Given the description of an element on the screen output the (x, y) to click on. 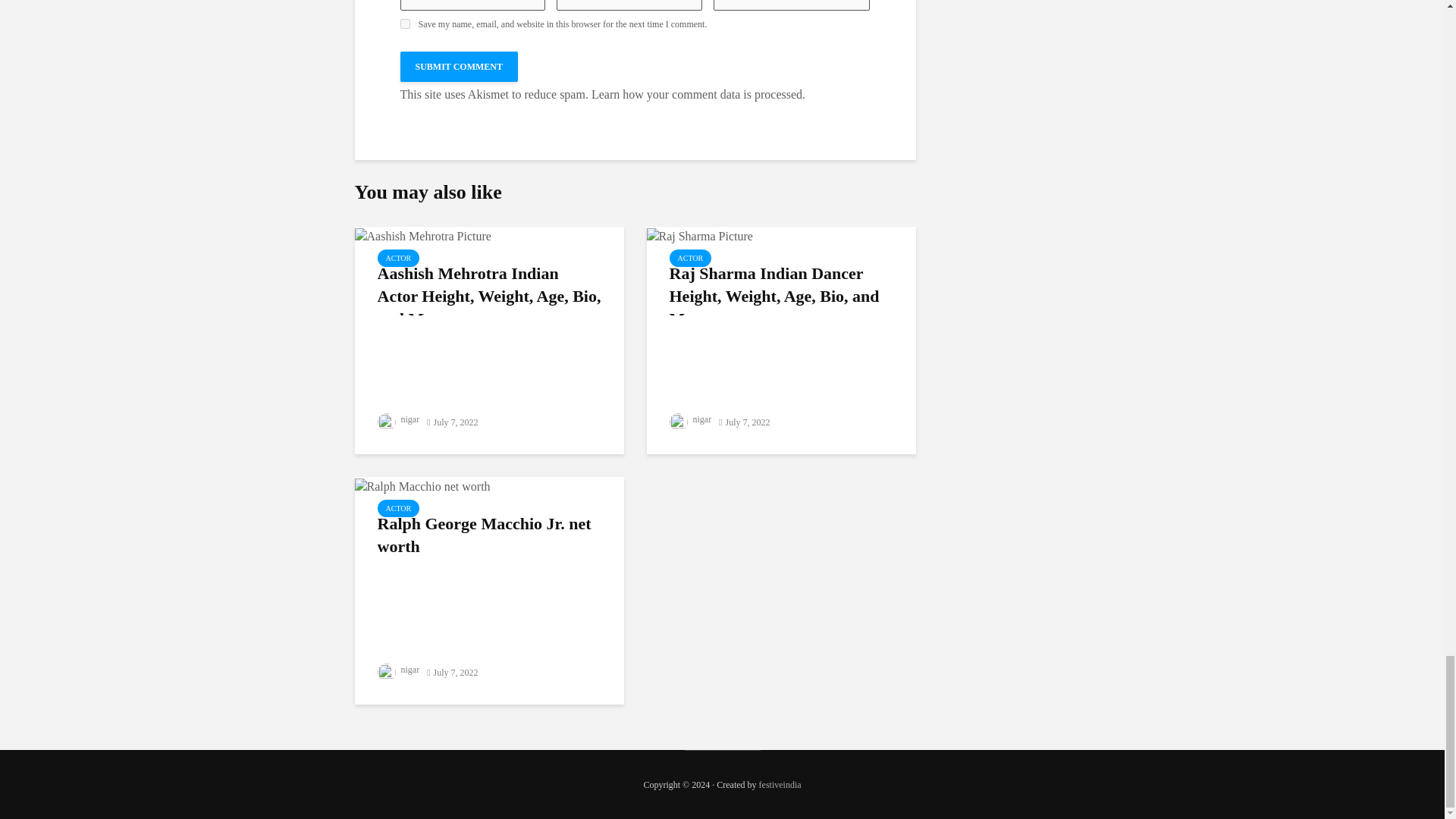
Raj Sharma Indian Dancer Height, Weight, Age, Bio, and More (699, 234)
yes (405, 23)
Submit Comment (459, 66)
Ralph George Macchio Jr. net worth (422, 484)
